Given the description of an element on the screen output the (x, y) to click on. 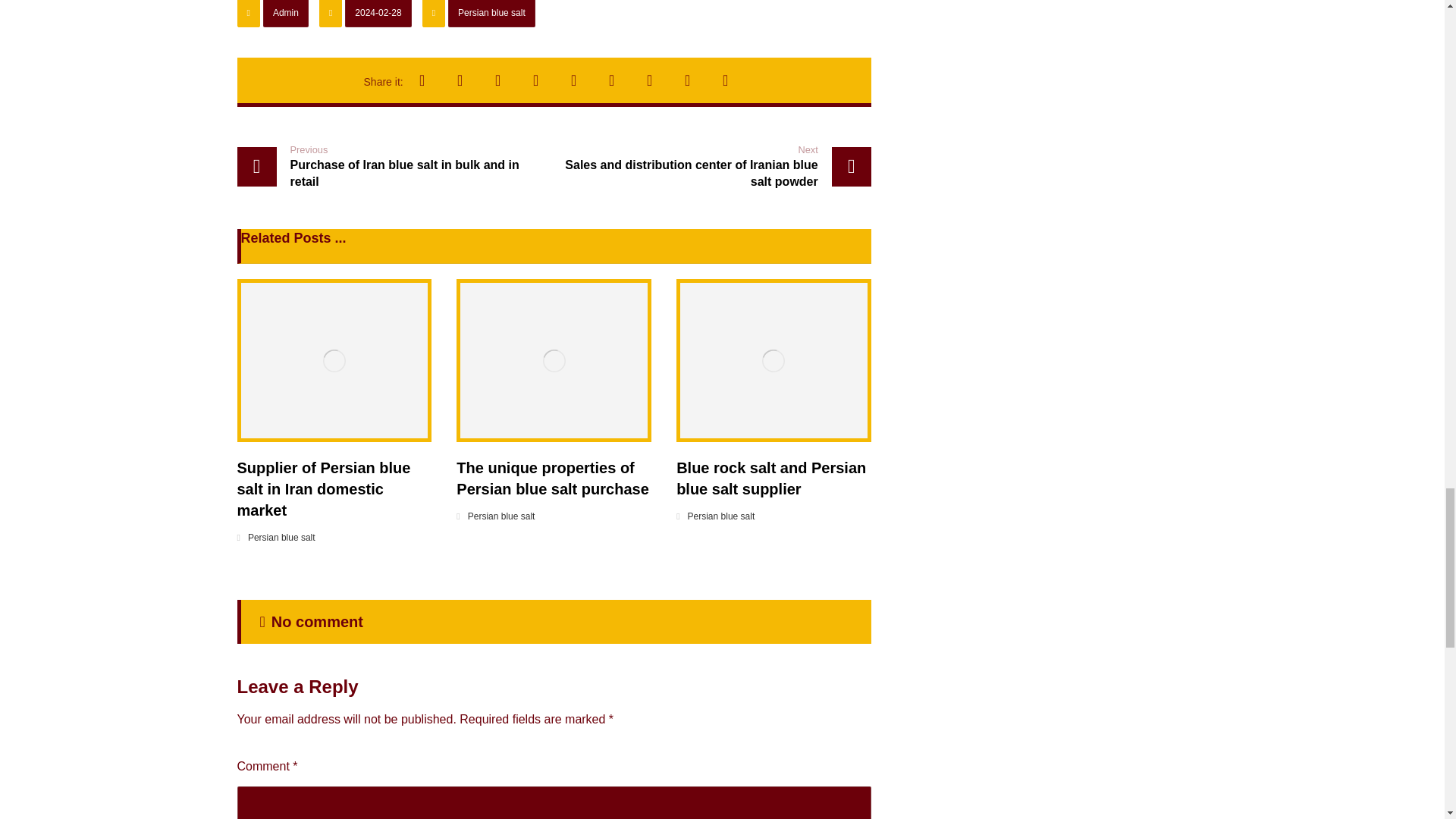
icon (247, 13)
Admin (285, 13)
icon (330, 13)
icon (433, 13)
2024-02-28 (377, 13)
Persian blue salt (390, 166)
